Given the description of an element on the screen output the (x, y) to click on. 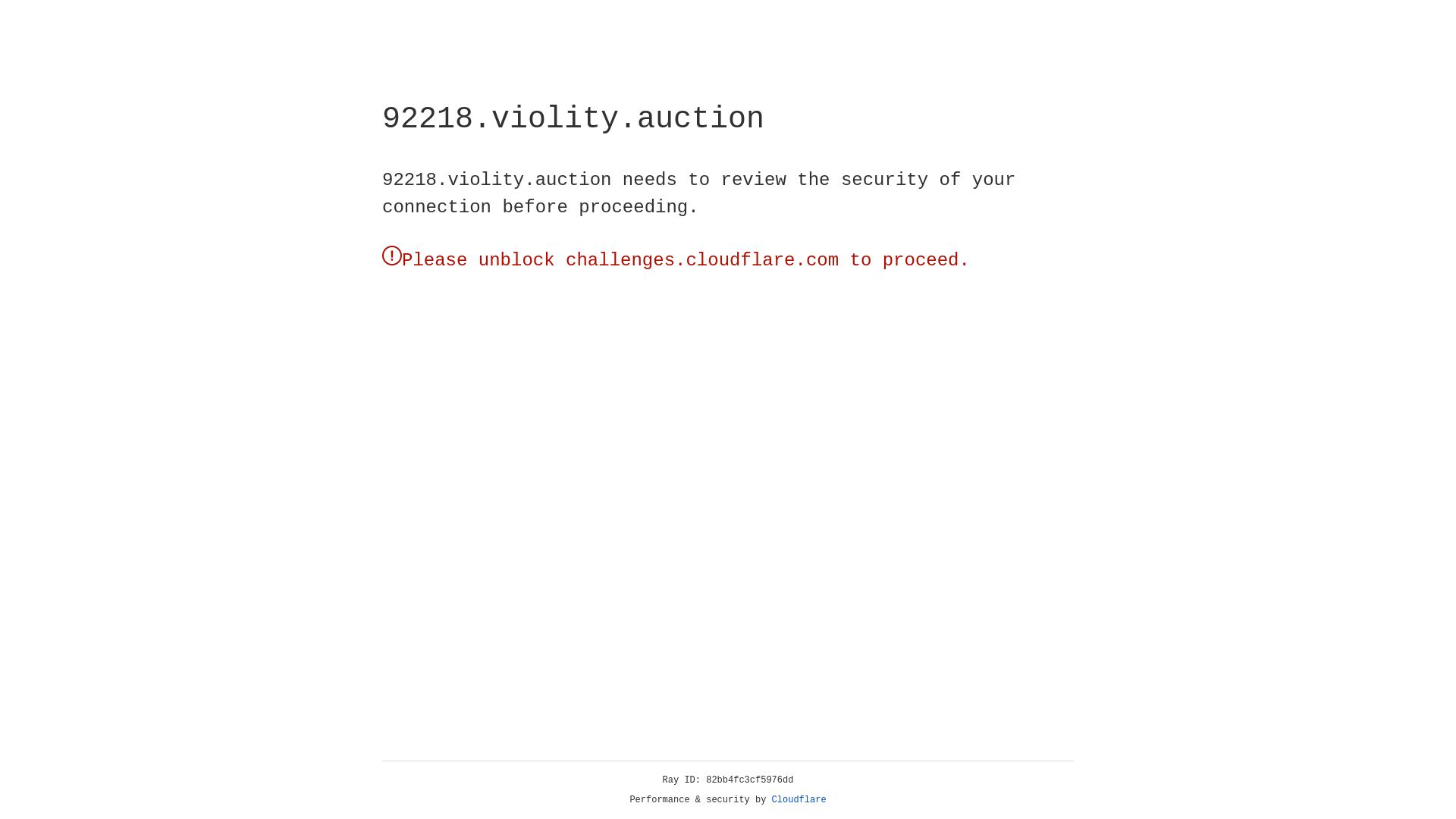
Cloudflare Element type: text (798, 799)
